Given the description of an element on the screen output the (x, y) to click on. 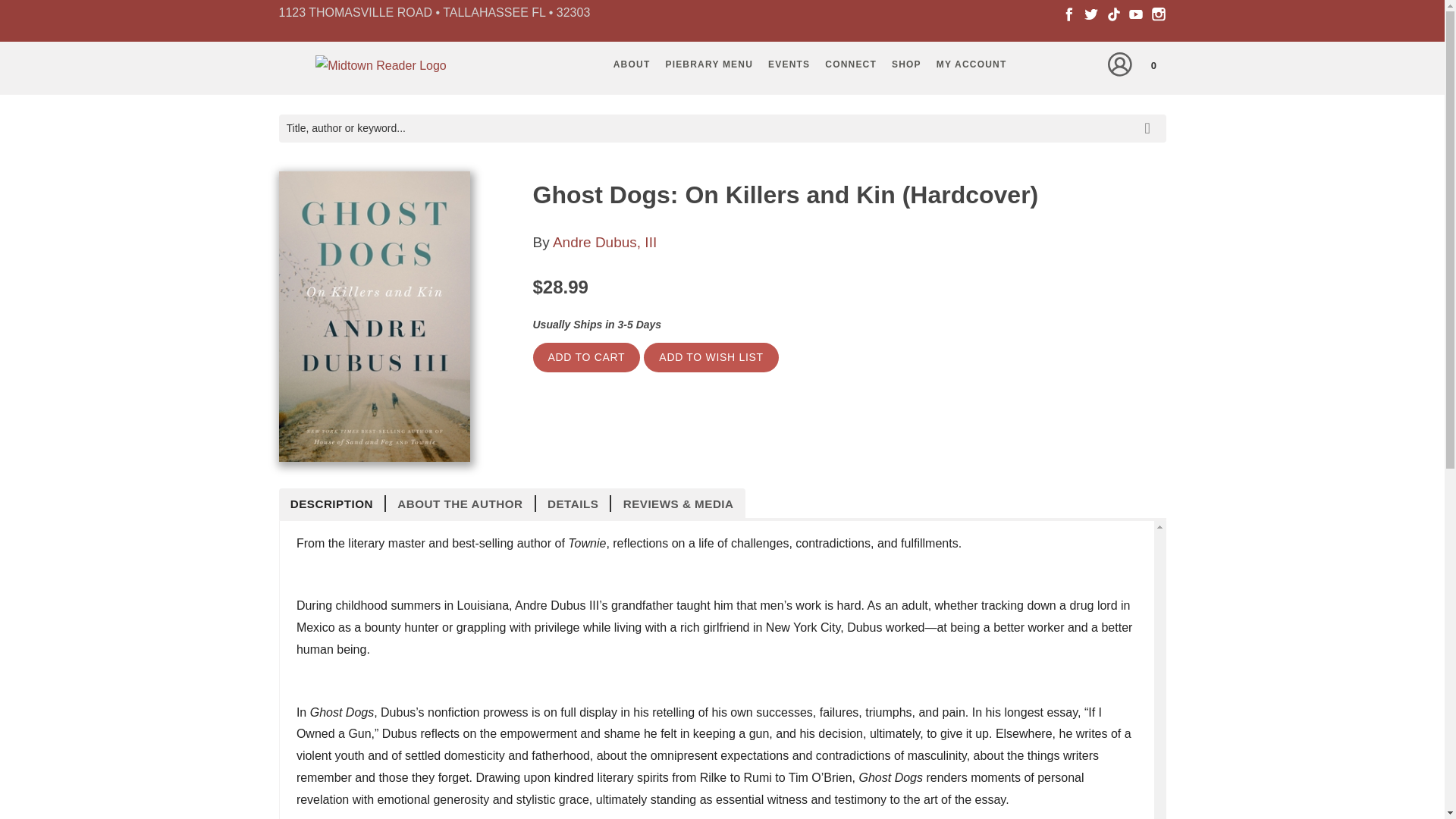
Partner with Midtown Reader! (849, 64)
Home (380, 69)
EVENTS (788, 64)
Add to Wish List (710, 357)
ABOUT (631, 64)
Andre Dubus, III (604, 242)
SHOP (905, 64)
DETAILS (573, 503)
MY ACCOUNT (971, 64)
